Given the description of an element on the screen output the (x, y) to click on. 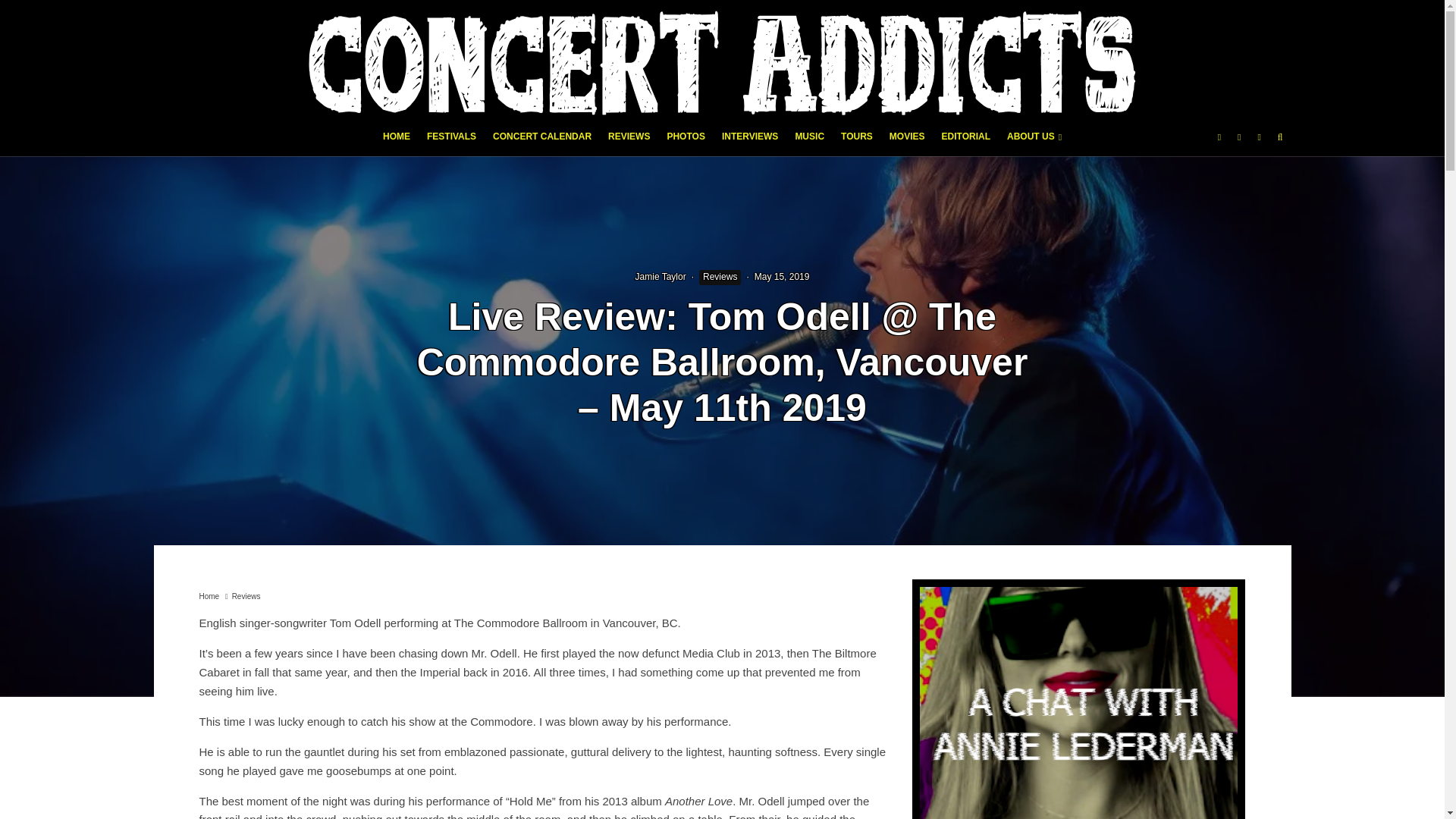
REVIEWS (628, 141)
FESTIVALS (451, 141)
HOME (396, 141)
INTERVIEWS (749, 141)
PHOTOS (685, 141)
CONCERT CALENDAR (541, 141)
